Given the description of an element on the screen output the (x, y) to click on. 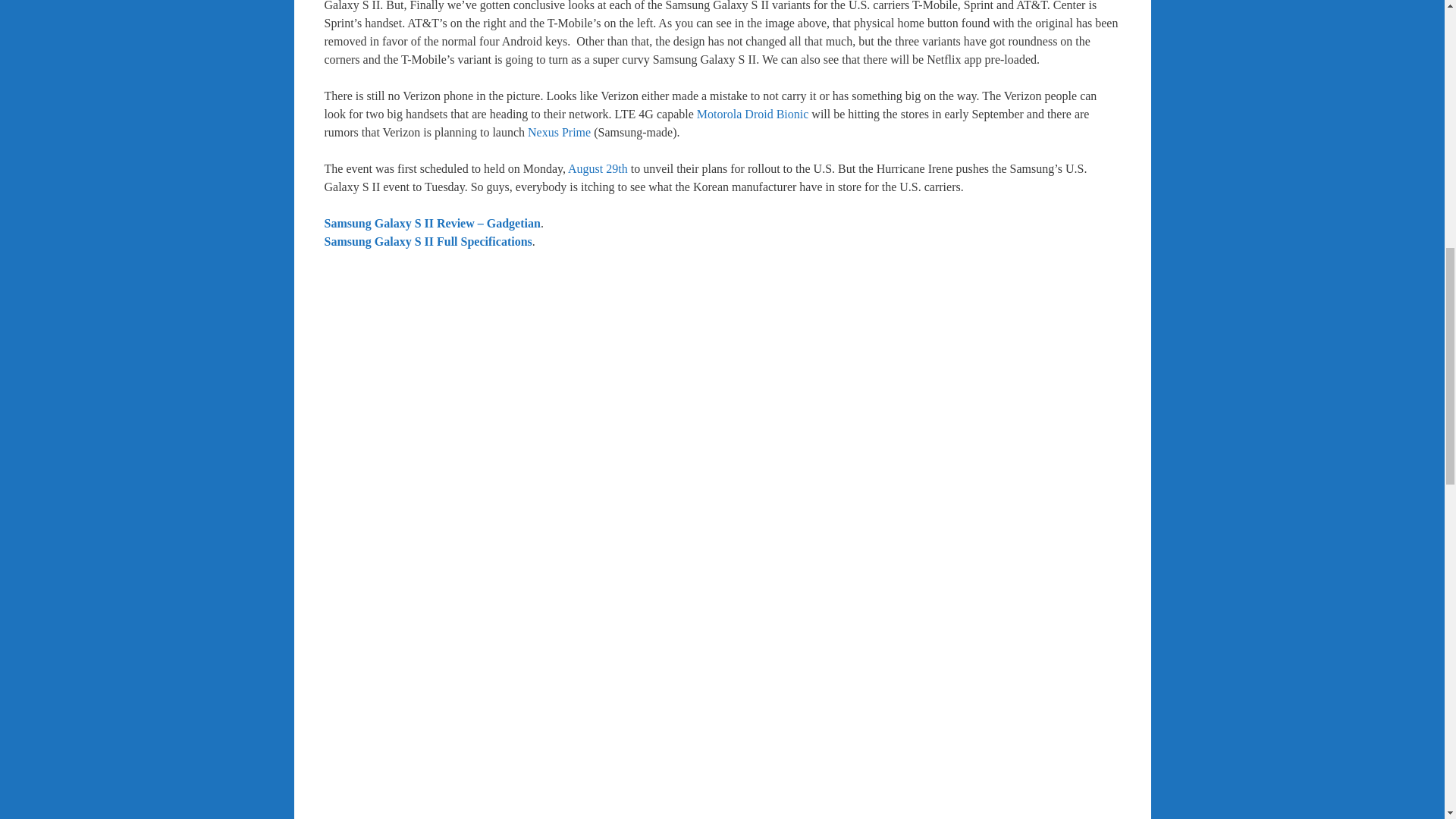
Motorola Droid Bionic (753, 113)
Samsung Galaxy S II Full Specifications (428, 241)
Nexus Prime At Gadgetian.com (559, 132)
August 29th (597, 168)
Samsung Galaxy S II Coming Soon To U.S. (721, 703)
Nexus Prime (559, 132)
Motorola Droid Bionic At Gadgetian.com (753, 113)
